Given the description of an element on the screen output the (x, y) to click on. 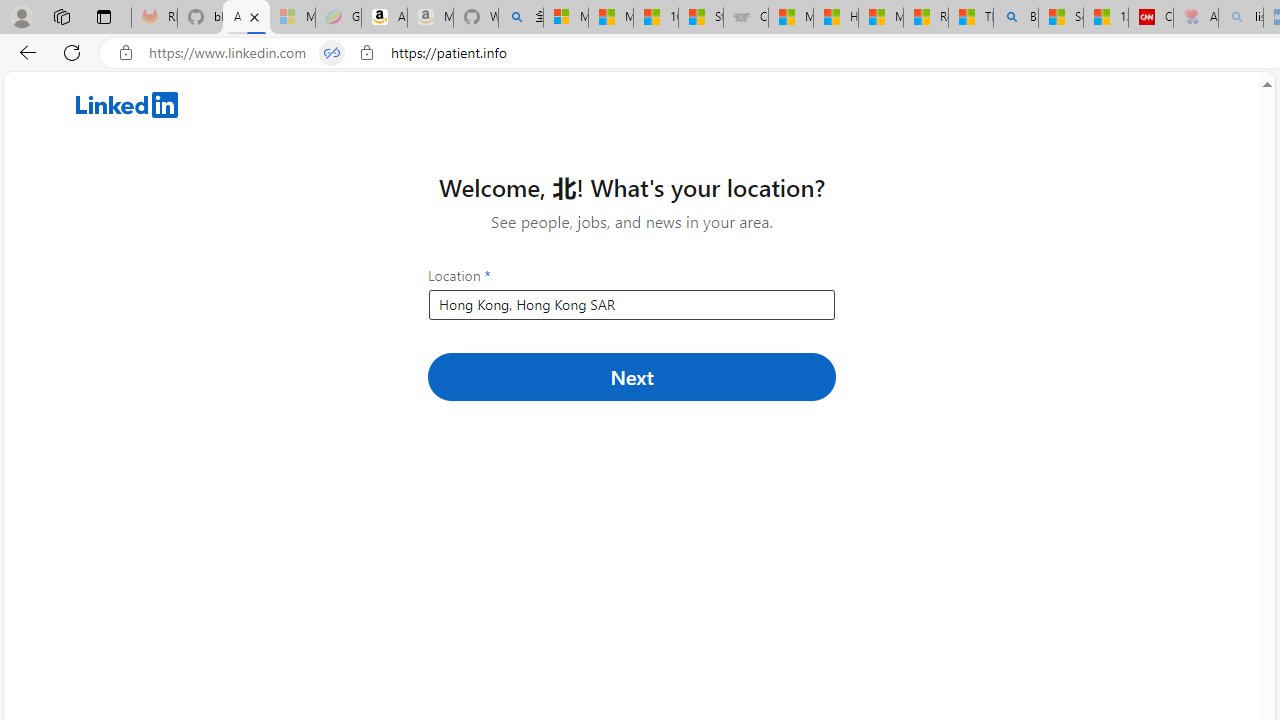
Tabs in split screen (331, 53)
Arthritis: Ask Health Professionals - Sleeping (1195, 17)
